Given the description of an element on the screen output the (x, y) to click on. 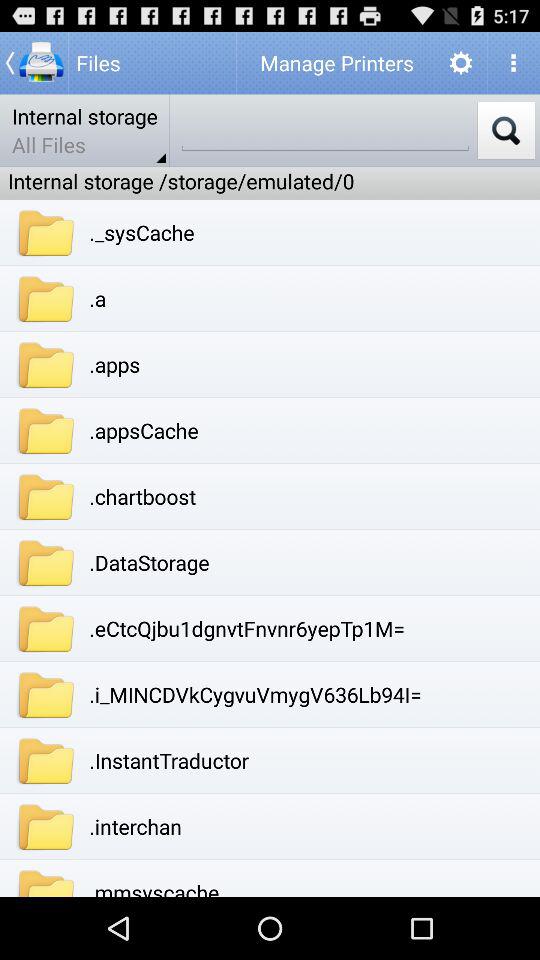
search files (325, 130)
